Given the description of an element on the screen output the (x, y) to click on. 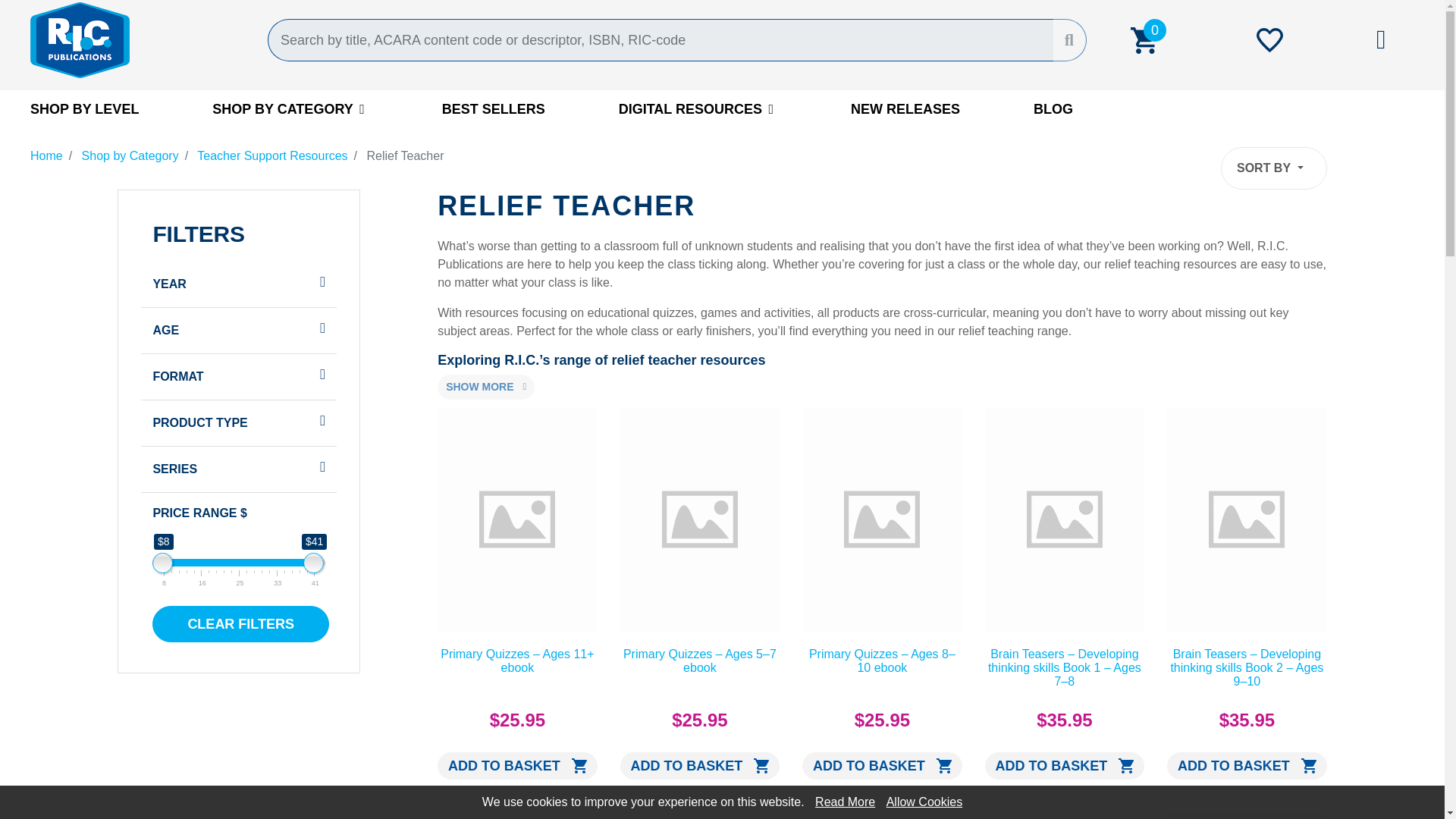
SHOP BY CATEGORY (290, 108)
R.I.C. Publications (137, 39)
Allow Cookies (924, 801)
R.I.C. Publications (137, 39)
SHOP BY LEVEL (84, 108)
0 (1142, 39)
Read More (845, 801)
Sort By (1273, 168)
